Given the description of an element on the screen output the (x, y) to click on. 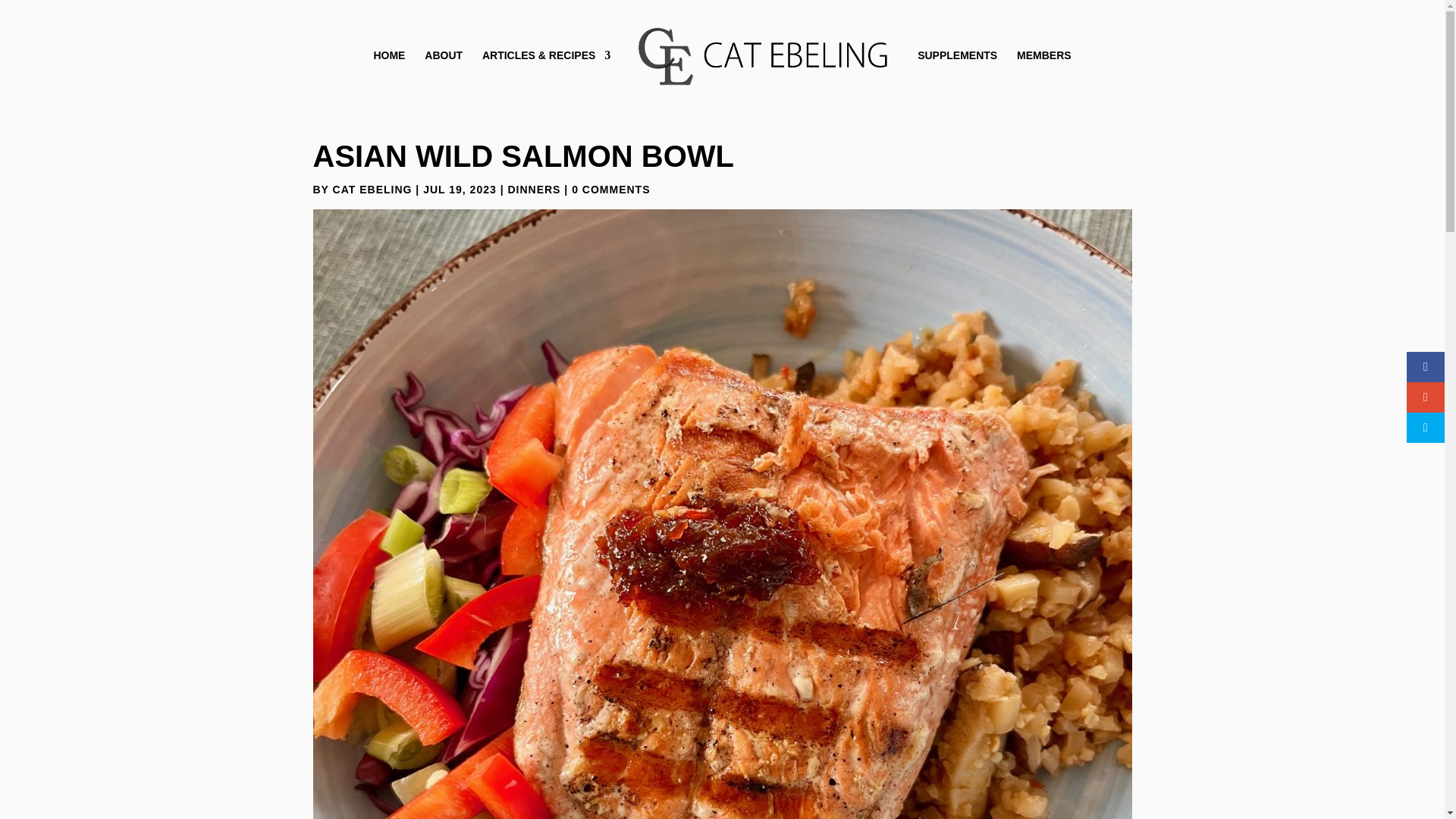
HOME (388, 64)
SUPPLEMENTS (957, 64)
ABOUT (444, 64)
MEMBERS (1043, 64)
0 COMMENTS (610, 189)
Posts by Cat Ebeling (372, 189)
CAT EBELING (372, 189)
DINNERS (533, 189)
